Given the description of an element on the screen output the (x, y) to click on. 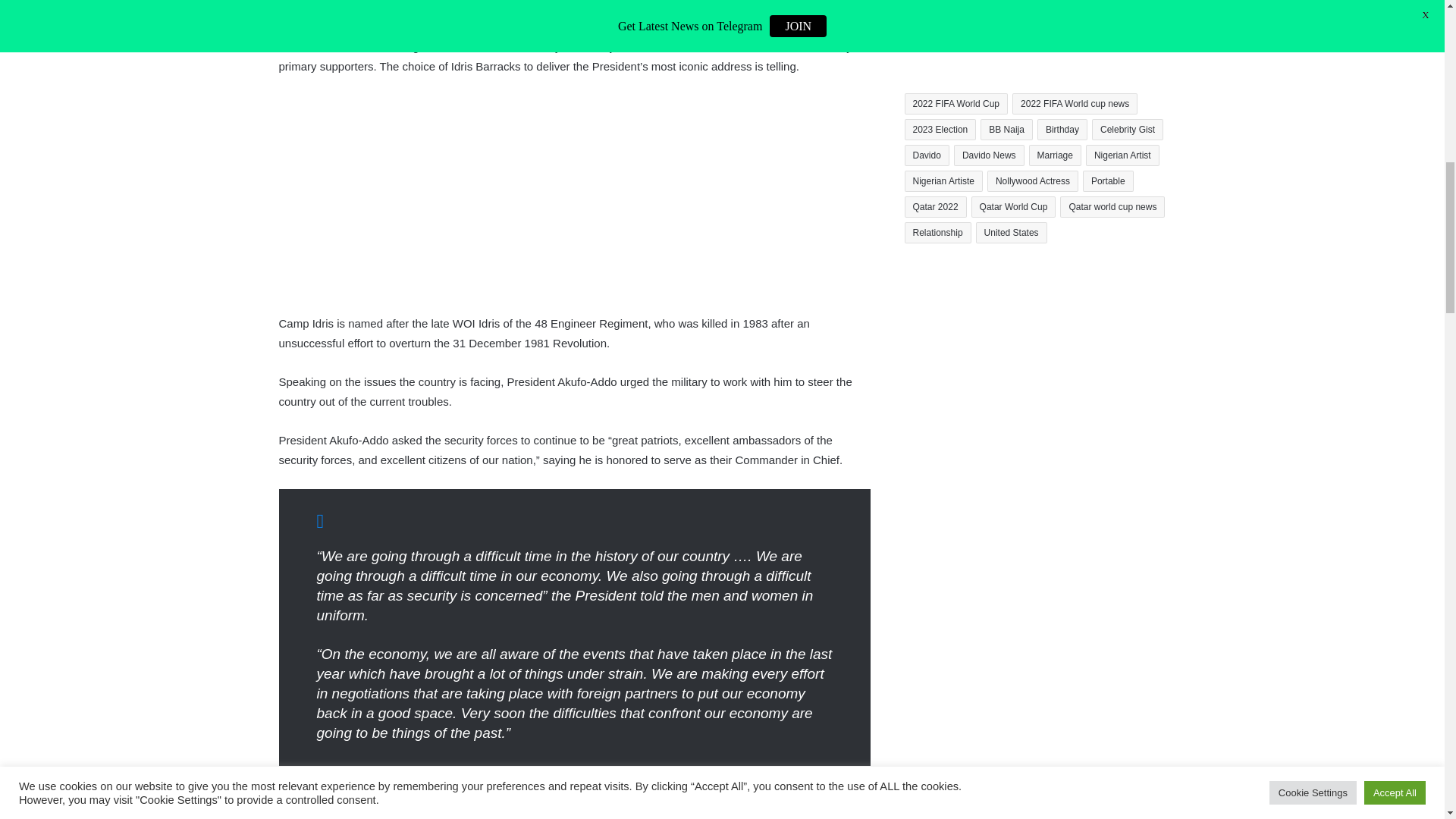
Advertisement (574, 201)
